Given the description of an element on the screen output the (x, y) to click on. 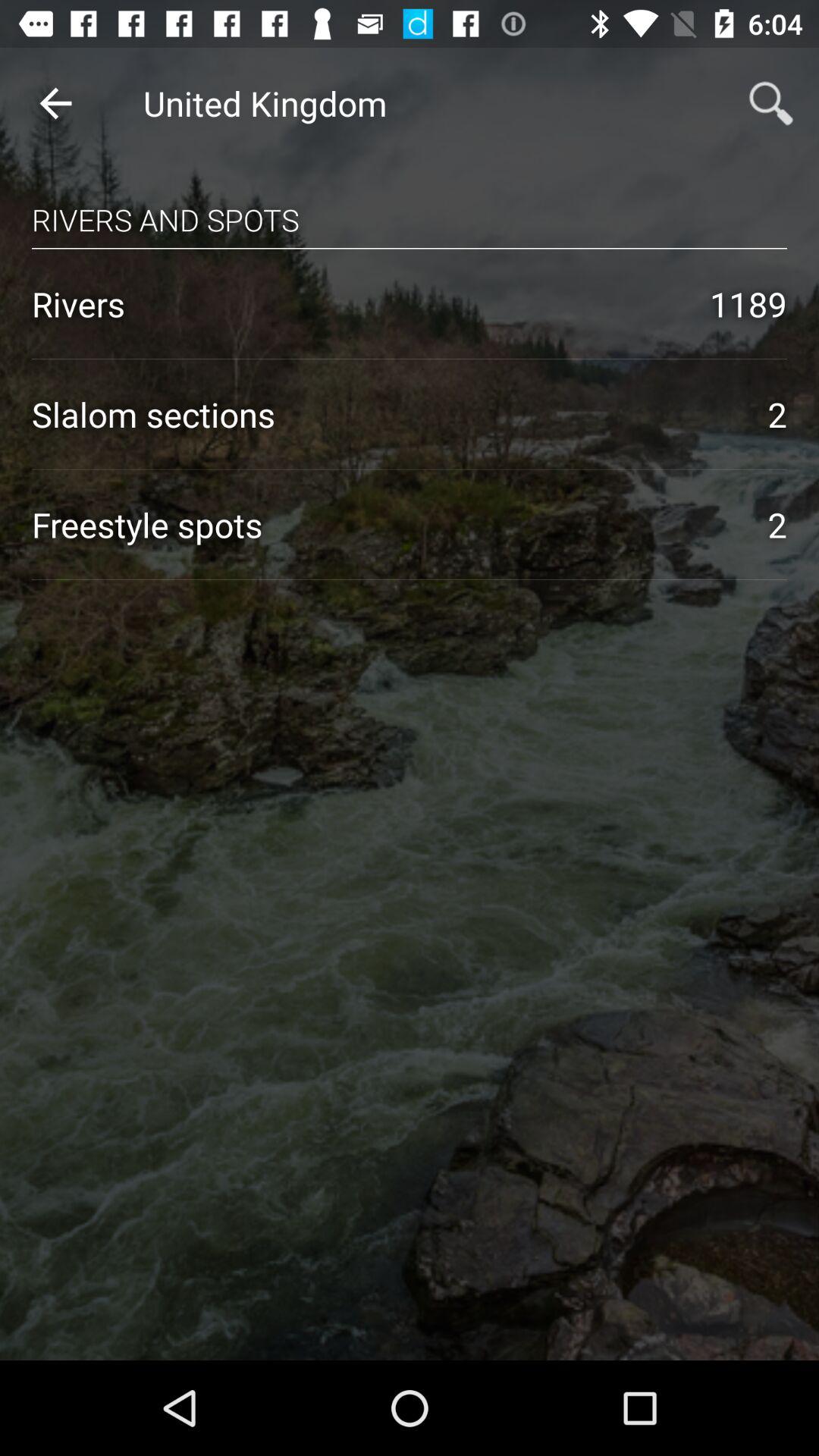
choose icon to the left of 2 (383, 524)
